Given the description of an element on the screen output the (x, y) to click on. 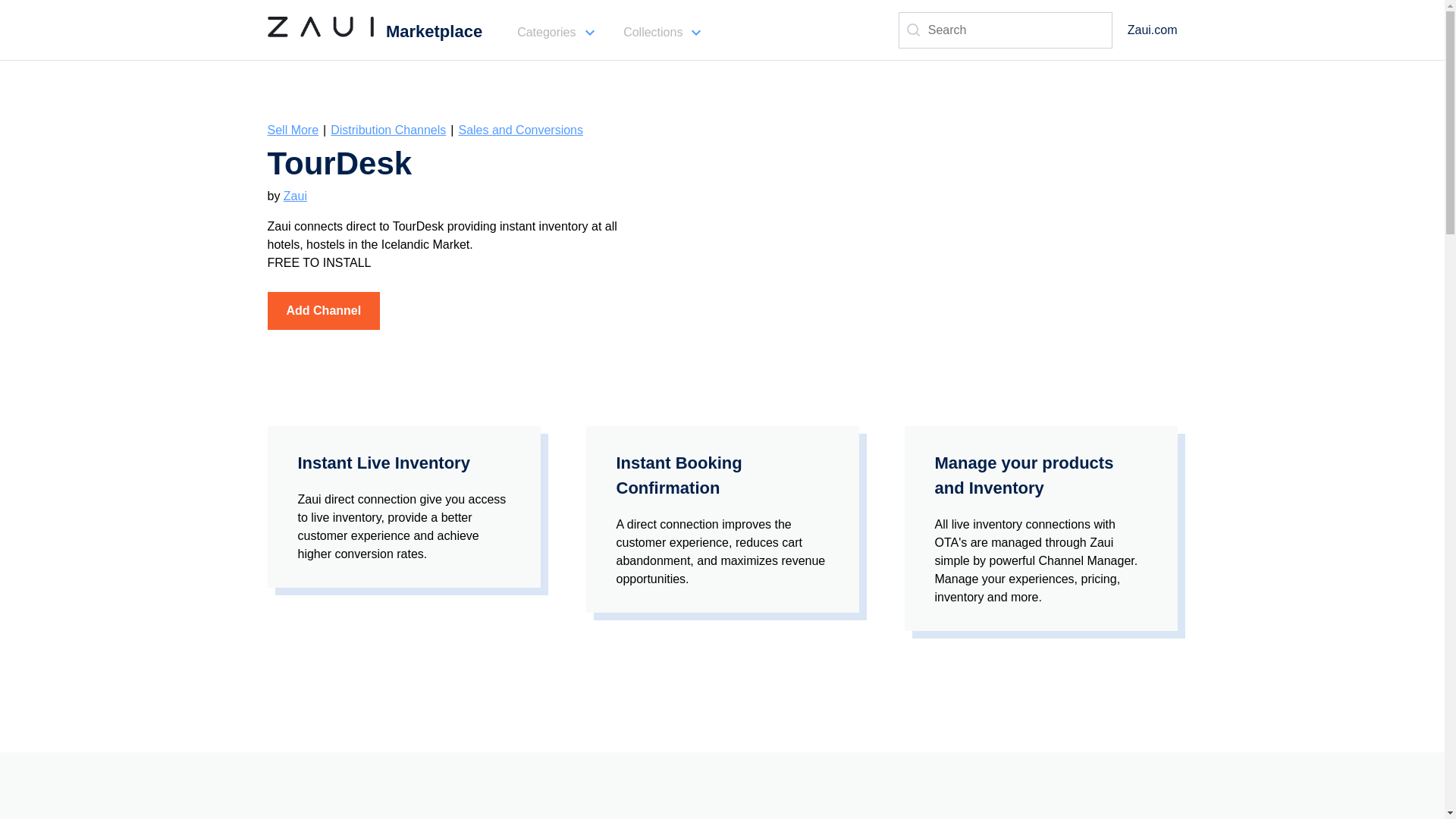
Distribution Channels (387, 129)
Marketplace (373, 32)
Zaui.com (1151, 29)
Categories (550, 32)
Collections (656, 32)
Sales and Conversions (520, 129)
Sell More (292, 129)
Zaui (295, 195)
